Given the description of an element on the screen output the (x, y) to click on. 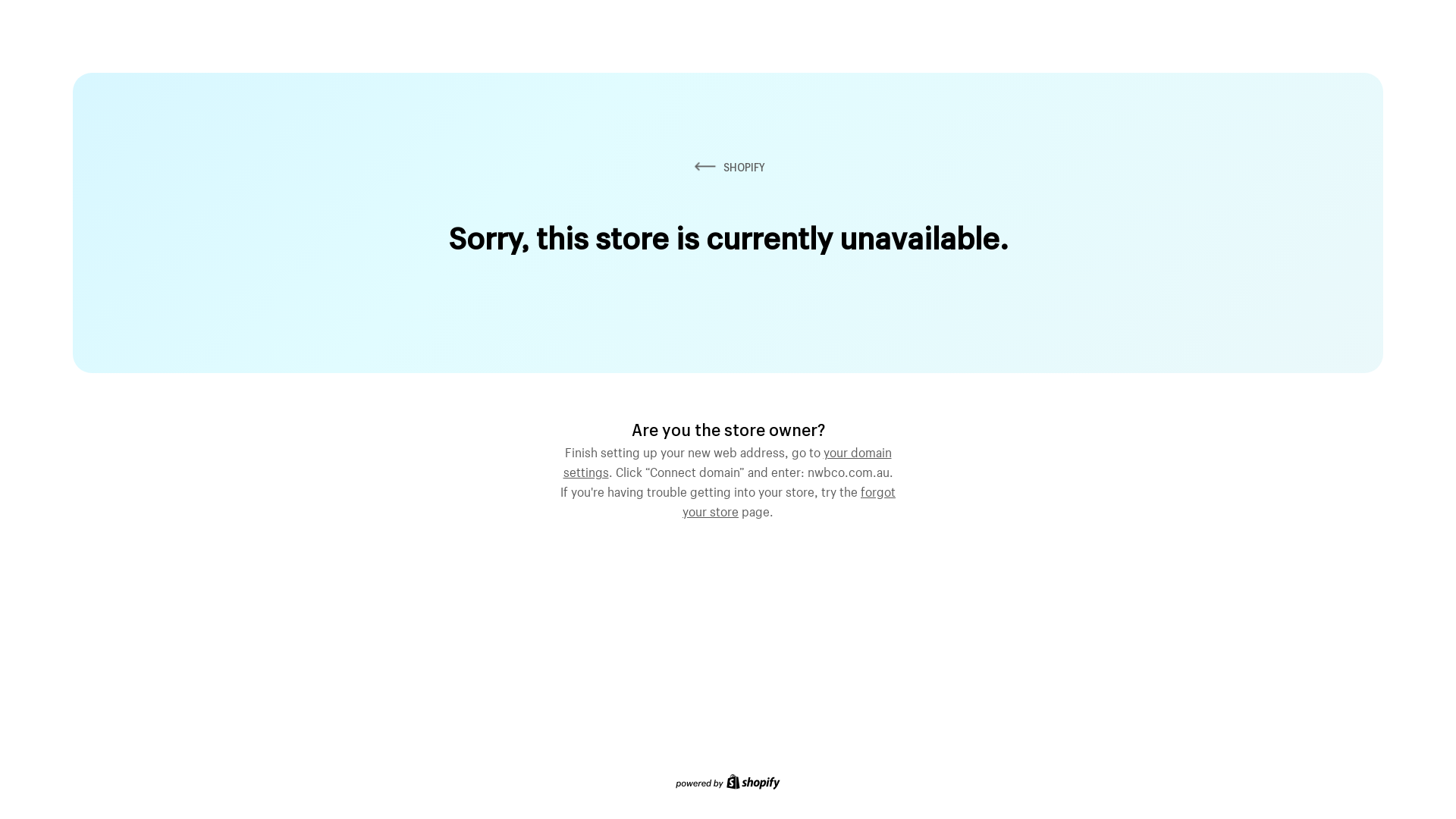
forgot your store Element type: text (788, 499)
SHOPIFY Element type: text (727, 167)
your domain settings Element type: text (726, 460)
